Given the description of an element on the screen output the (x, y) to click on. 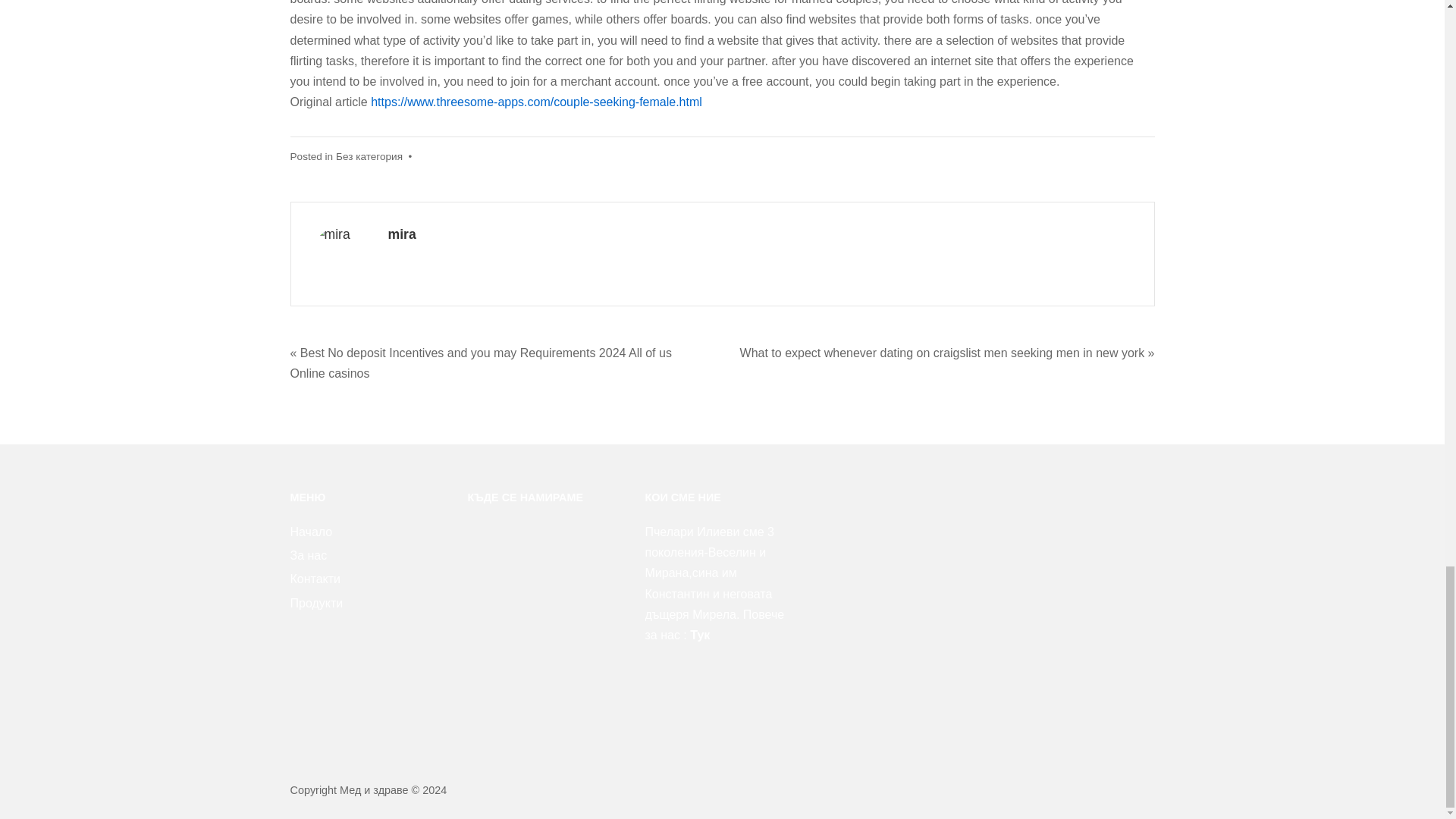
mira (402, 233)
Posts by mira (402, 233)
